Given the description of an element on the screen output the (x, y) to click on. 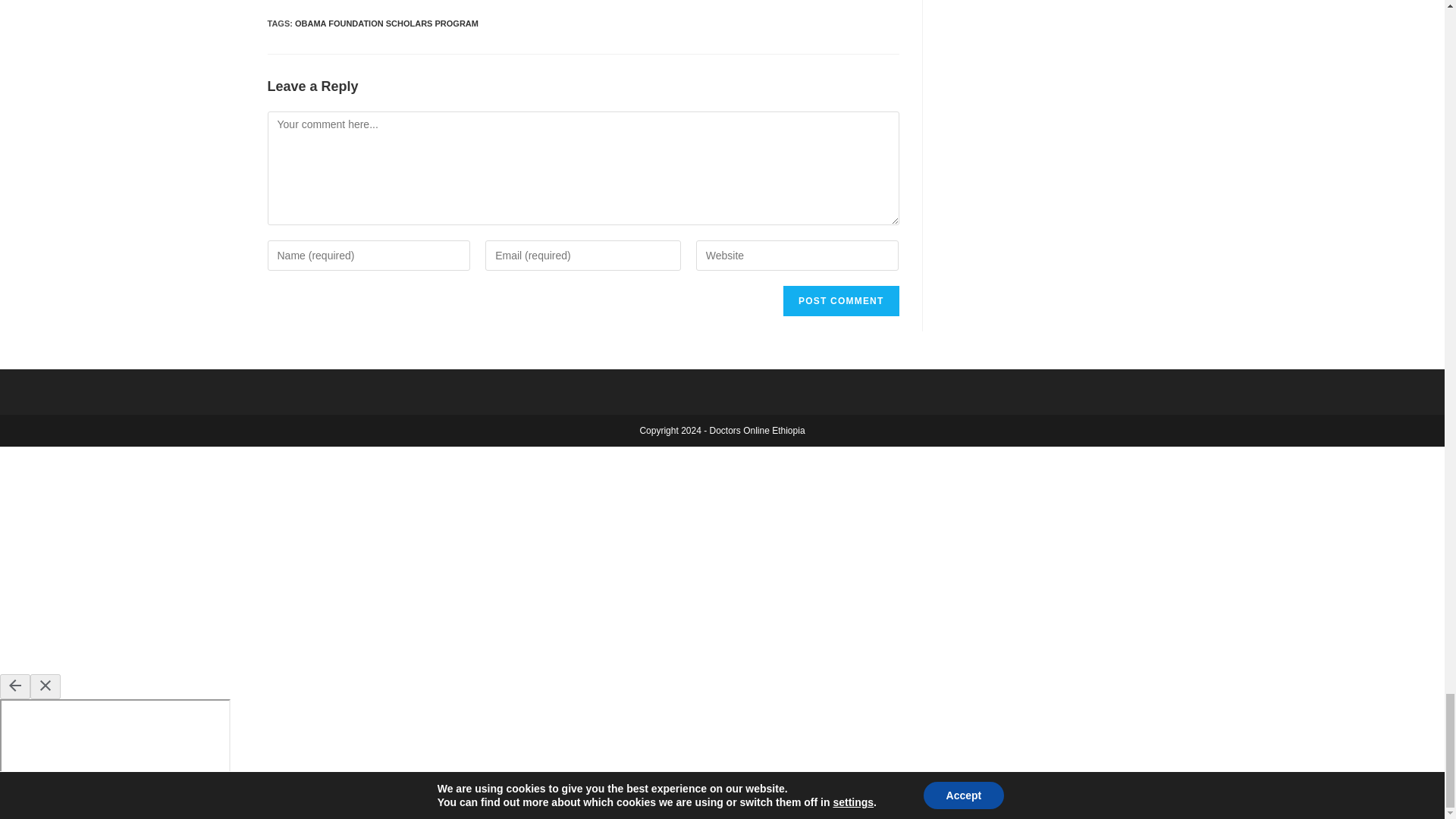
Post Comment (840, 300)
